Given the description of an element on the screen output the (x, y) to click on. 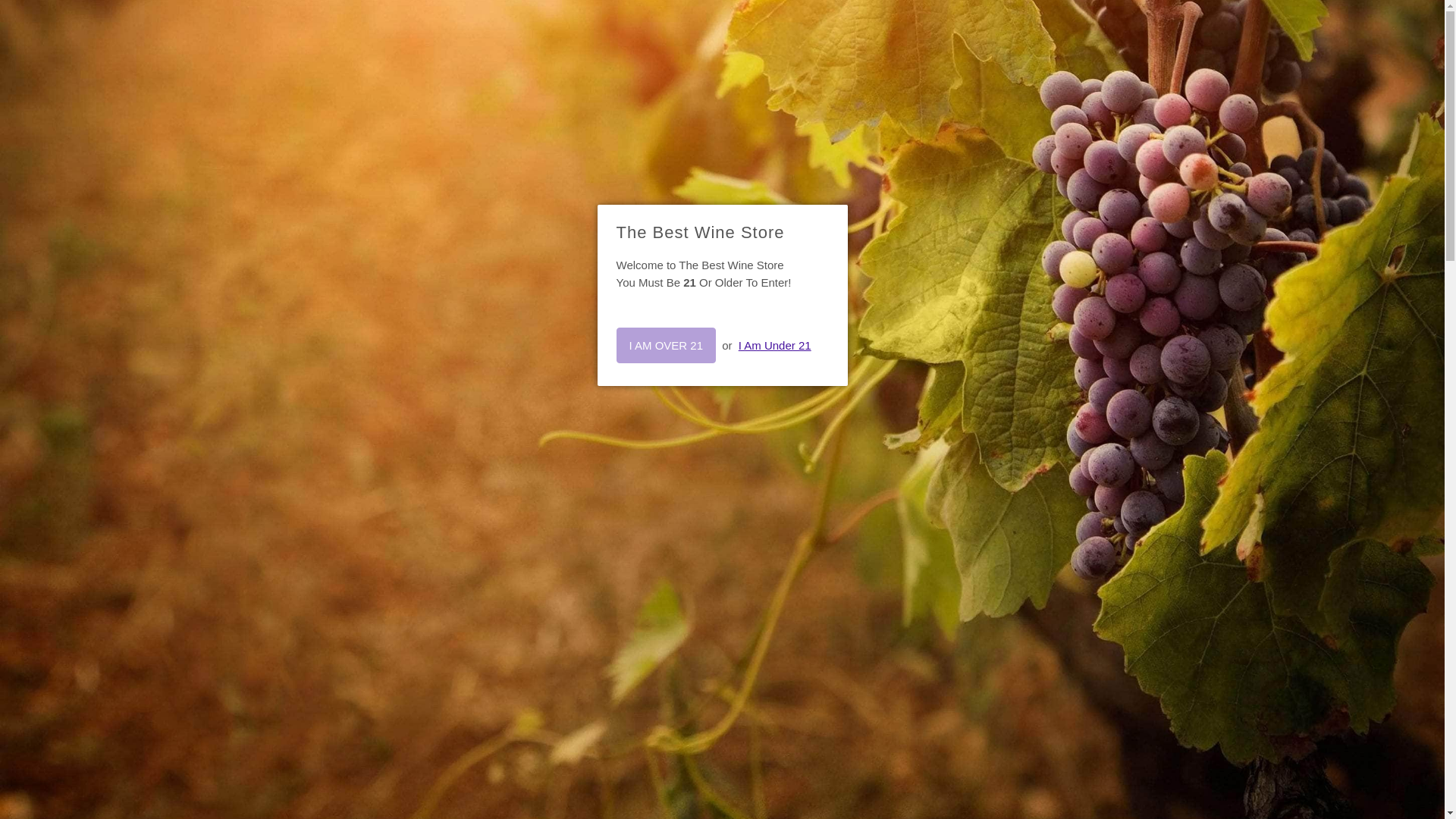
1 (864, 521)
Send (1003, 664)
I AM OVER 21 (665, 345)
Sign Up (722, 616)
Caymus Vineyards (906, 243)
I Am Under 21 (774, 345)
